Given the description of an element on the screen output the (x, y) to click on. 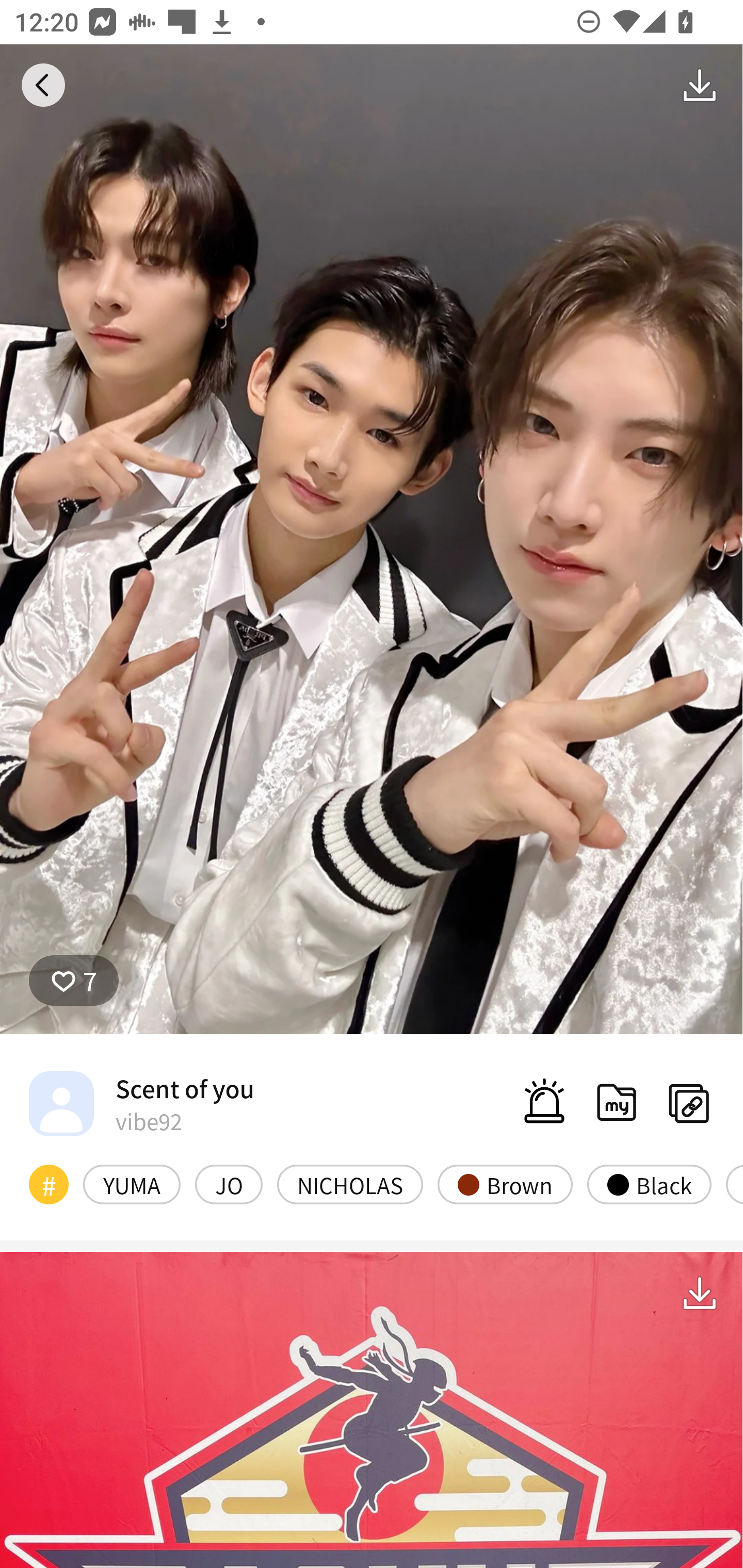
7 (73, 980)
Scent of you vibe92 (141, 1102)
YUMA (131, 1184)
JO (228, 1184)
NICHOLAS (349, 1184)
Brown (504, 1184)
Black (648, 1184)
